Given the description of an element on the screen output the (x, y) to click on. 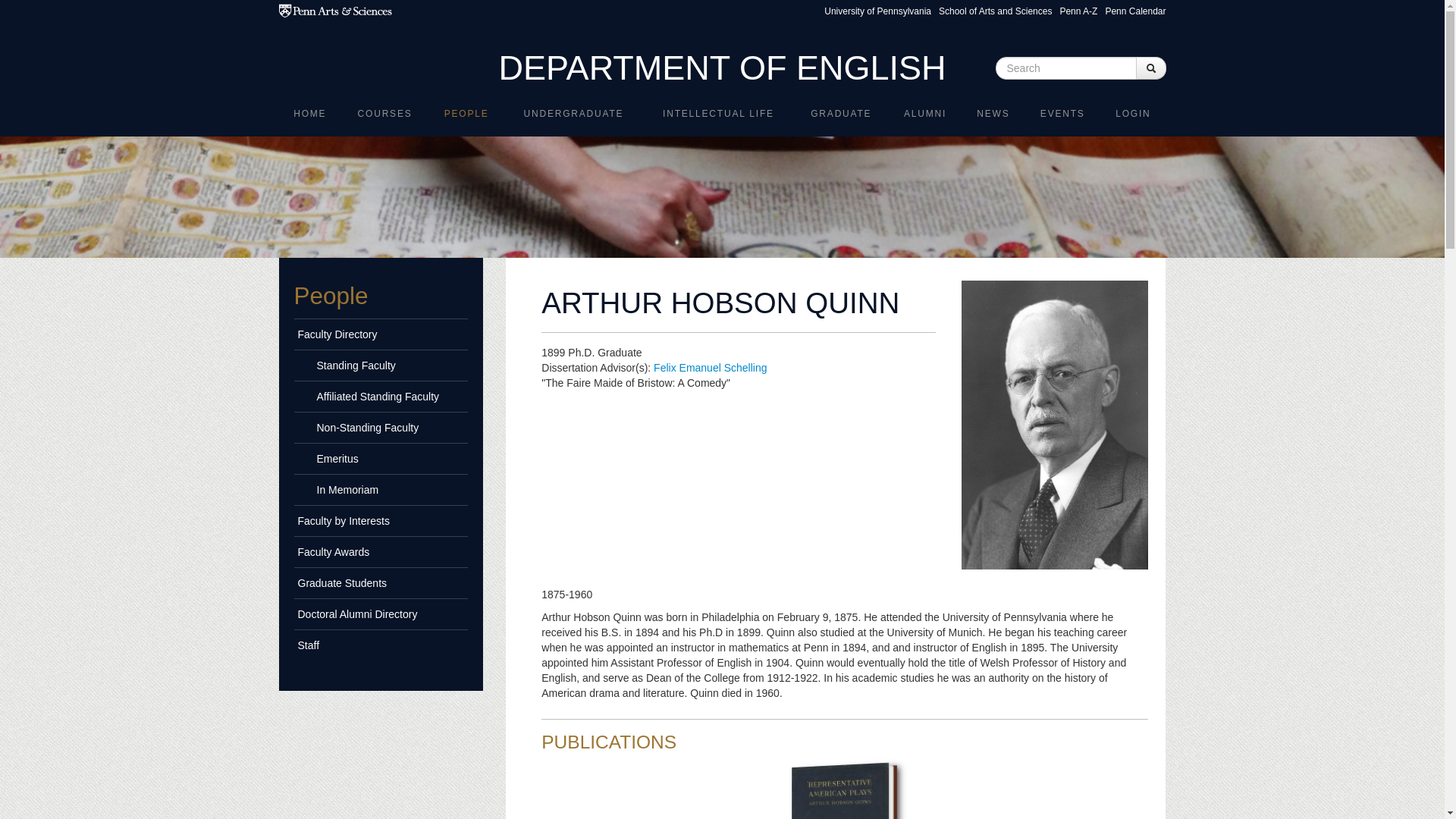
Faculty by Interests (381, 520)
Search (1193, 60)
PEOPLE (465, 113)
GRADUATE (840, 113)
Penn A-Z (1078, 10)
UNDERGRADUATE (573, 113)
Affiliated Standing Faculty (381, 395)
LOGIN (1133, 113)
DEPARTMENT OF ENGLISH (720, 67)
Graduate Students (381, 582)
NEWS (993, 113)
EVENTS (1062, 113)
University of Pennsylvania (877, 10)
Penn Calendar (1135, 10)
